Given the description of an element on the screen output the (x, y) to click on. 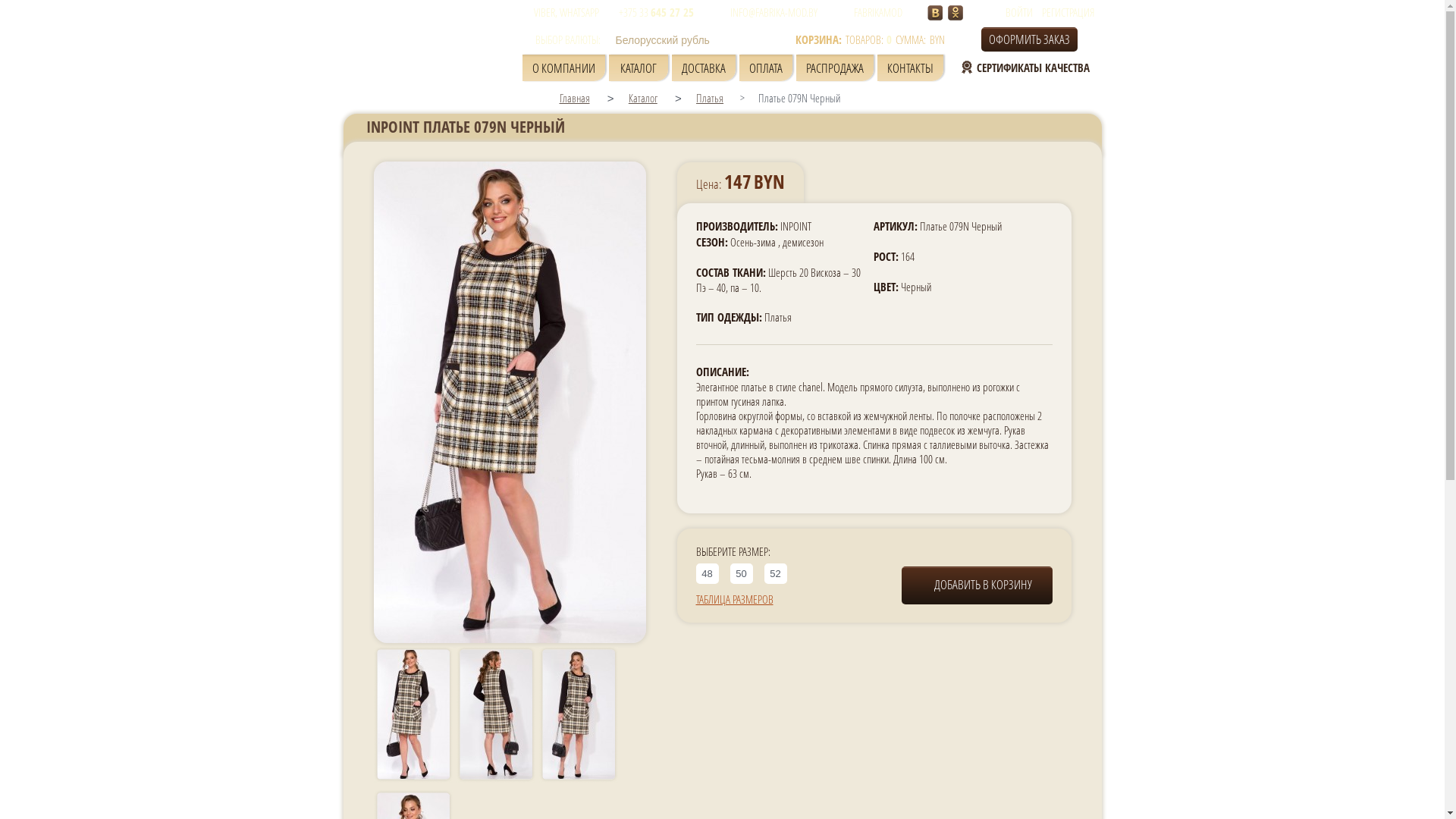
INFO@FABRIKA-MOD.BY Element type: text (764, 12)
FABRIKAMOD Element type: text (868, 12)
